Given the description of an element on the screen output the (x, y) to click on. 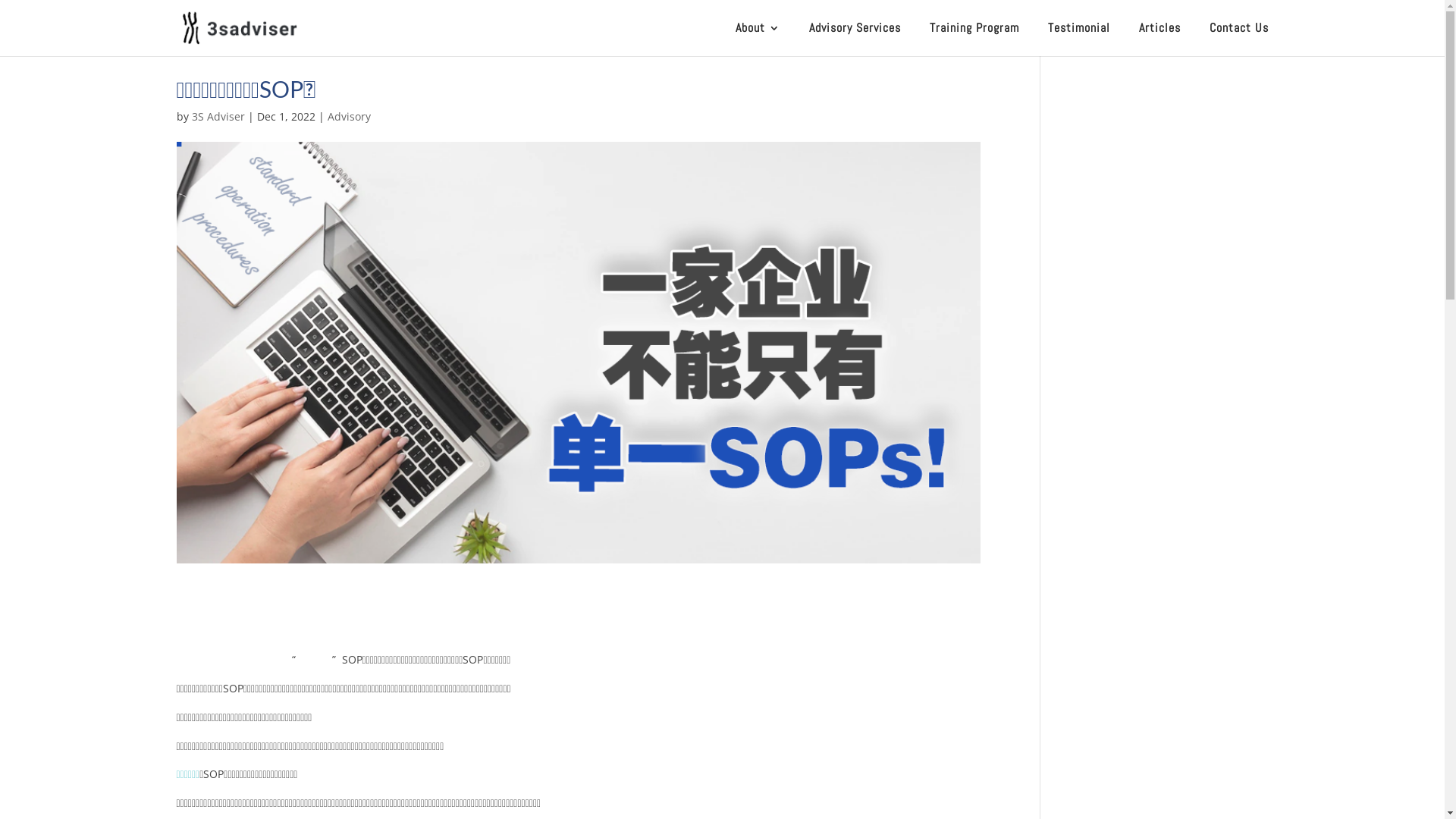
Articles Element type: text (1159, 33)
Advisory Services Element type: text (854, 33)
Testimonial Element type: text (1079, 33)
Training Program Element type: text (974, 33)
3S Adviser Element type: text (217, 116)
About Element type: text (757, 33)
Advisory Element type: text (348, 116)
Contact Us Element type: text (1237, 33)
